Given the description of an element on the screen output the (x, y) to click on. 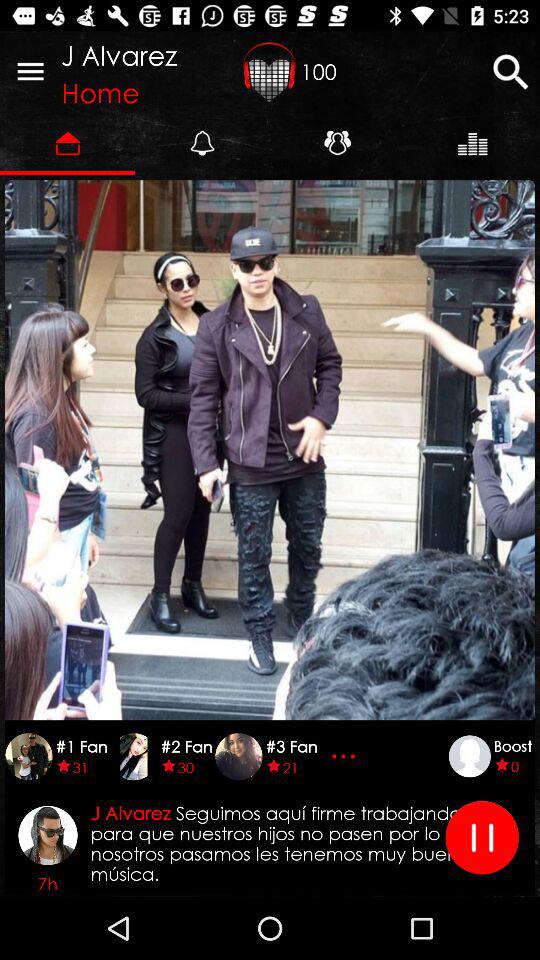
select the icon next to 100 (510, 71)
